Given the description of an element on the screen output the (x, y) to click on. 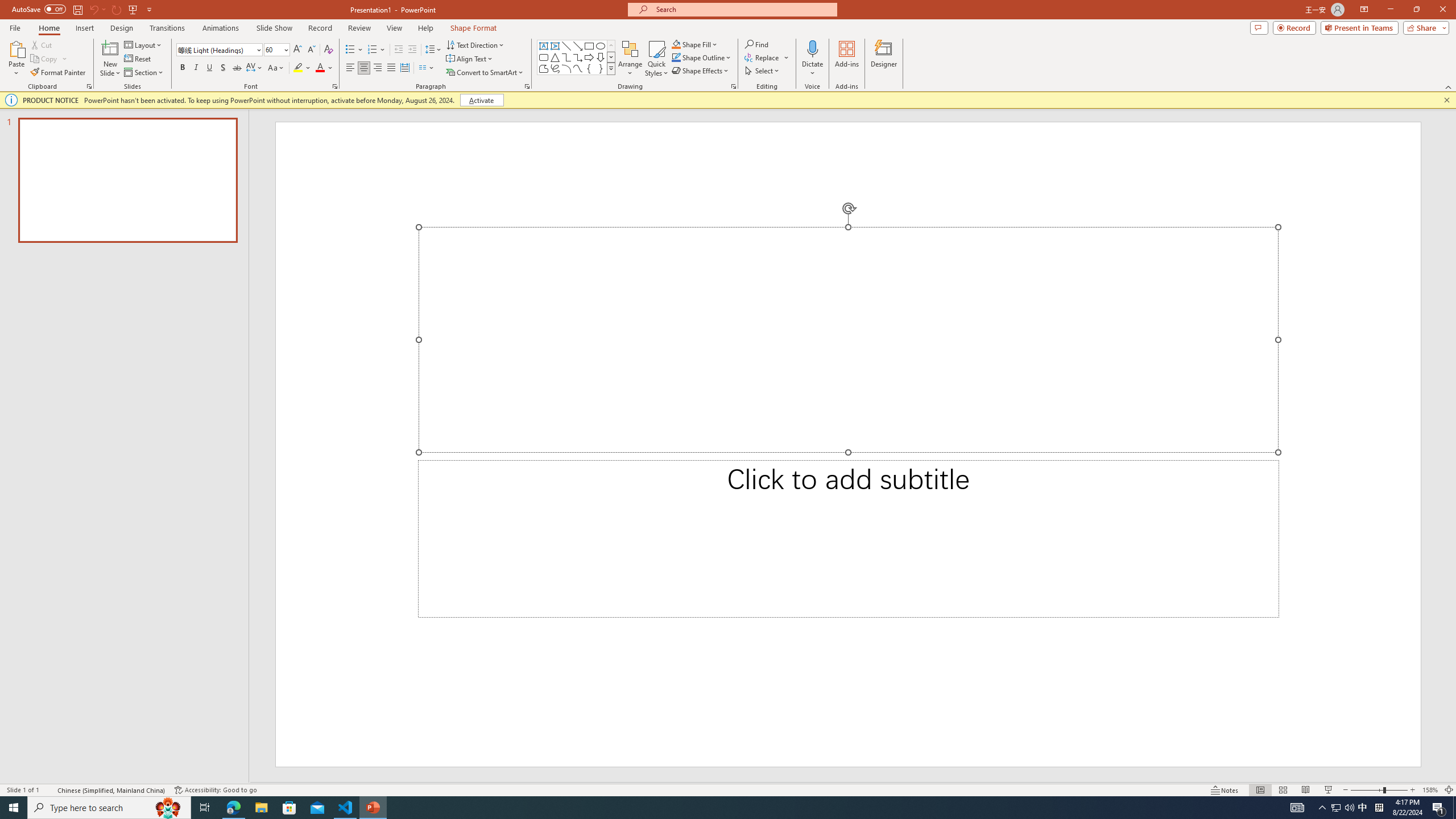
Notes  (1225, 790)
Transitions (167, 28)
Format Object... (733, 85)
Section (144, 72)
Minimize (1390, 9)
Class: NetUIImage (610, 68)
Designer (883, 58)
Bullets (349, 49)
Cut (42, 44)
Close (1442, 9)
Freeform: Shape (543, 68)
Vertical Text Box (554, 45)
Clear Formatting (327, 49)
